Given the description of an element on the screen output the (x, y) to click on. 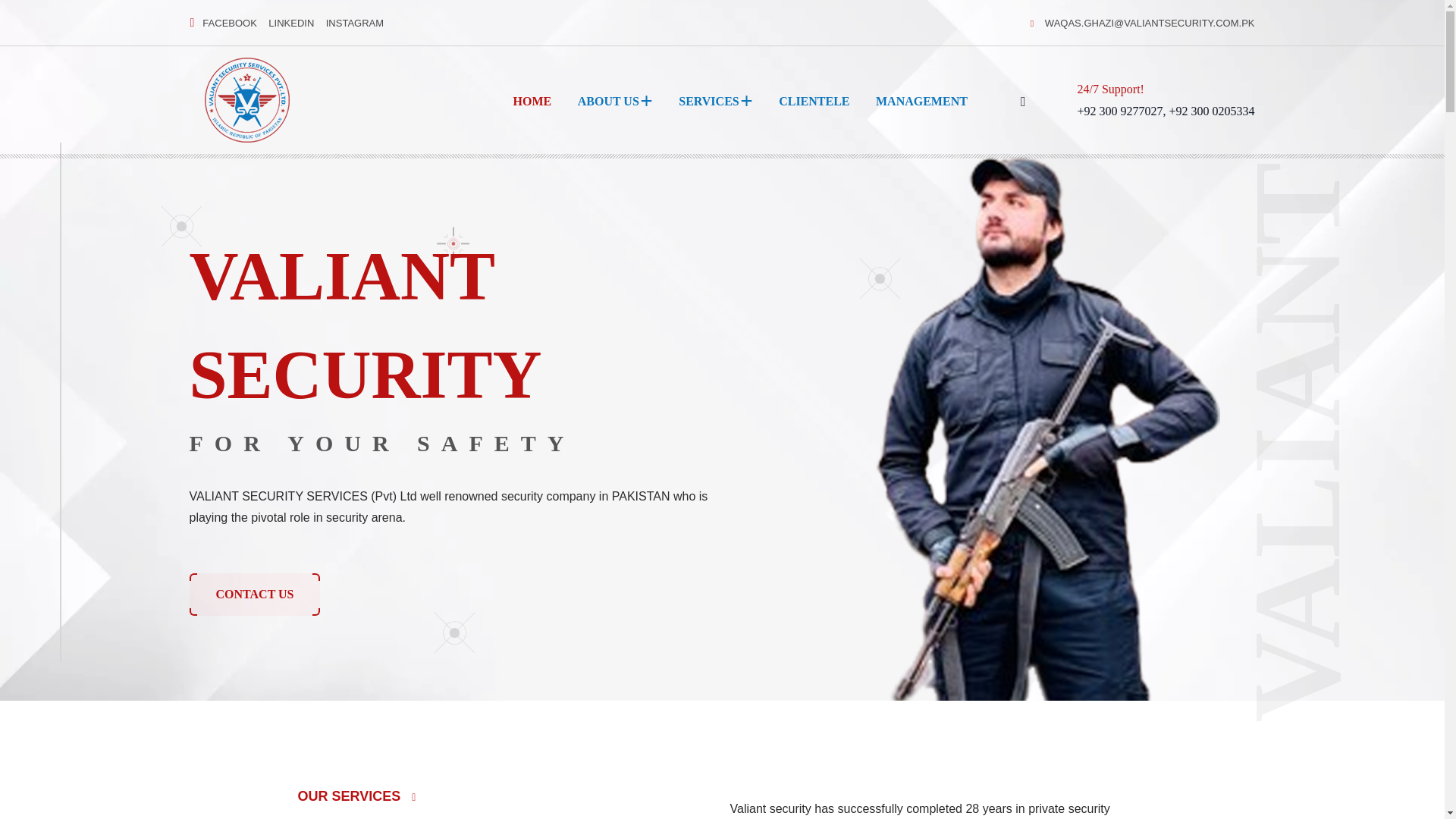
LINKEDIN (290, 22)
FACEBOOK (229, 22)
SERVICES (708, 101)
CONTACT US (254, 594)
MANAGEMENT (922, 101)
ABOUT US (608, 101)
CLIENTELE (813, 101)
HOME (532, 101)
INSTAGRAM (355, 22)
